Given the description of an element on the screen output the (x, y) to click on. 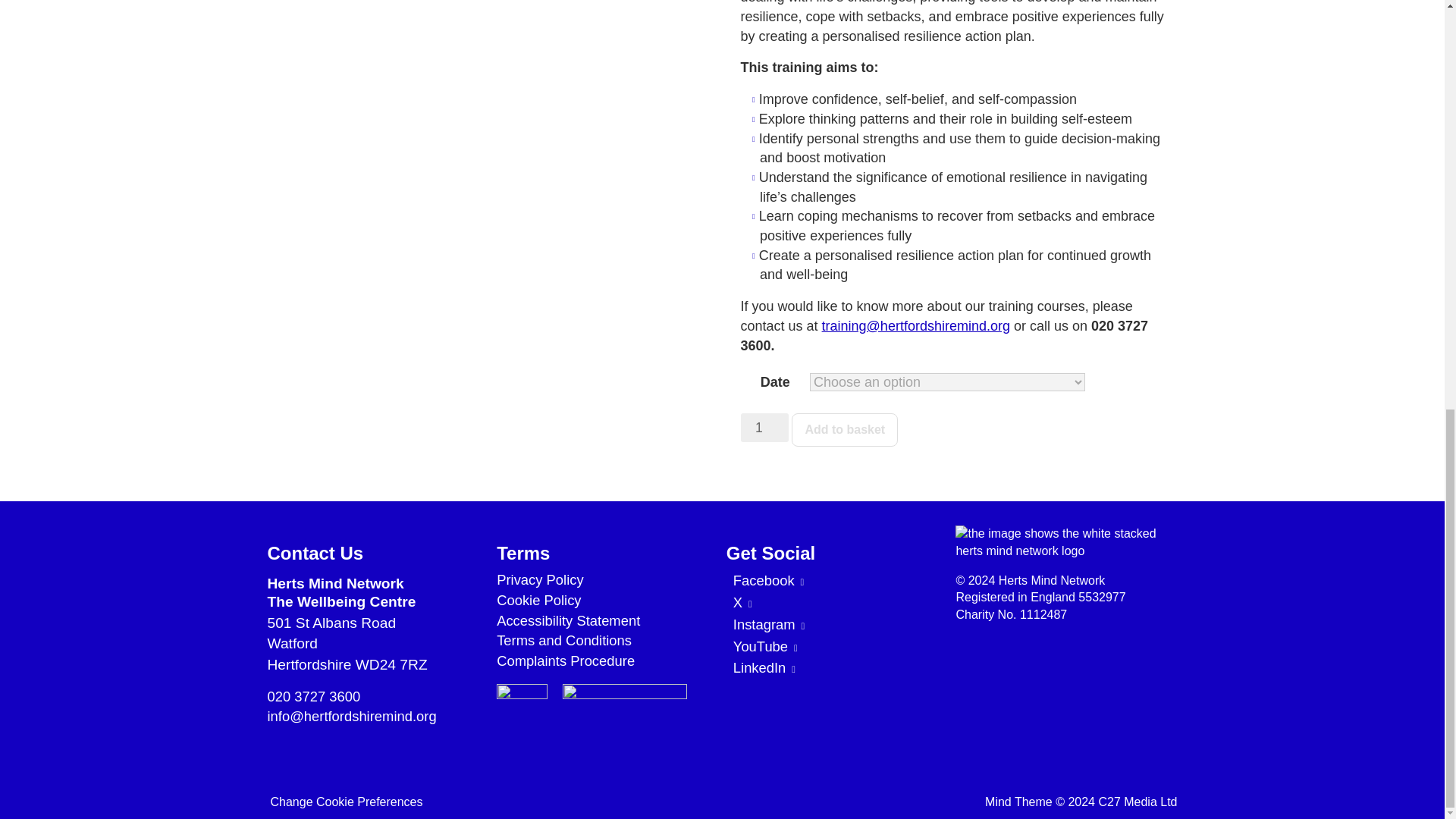
1 (764, 427)
